Given the description of an element on the screen output the (x, y) to click on. 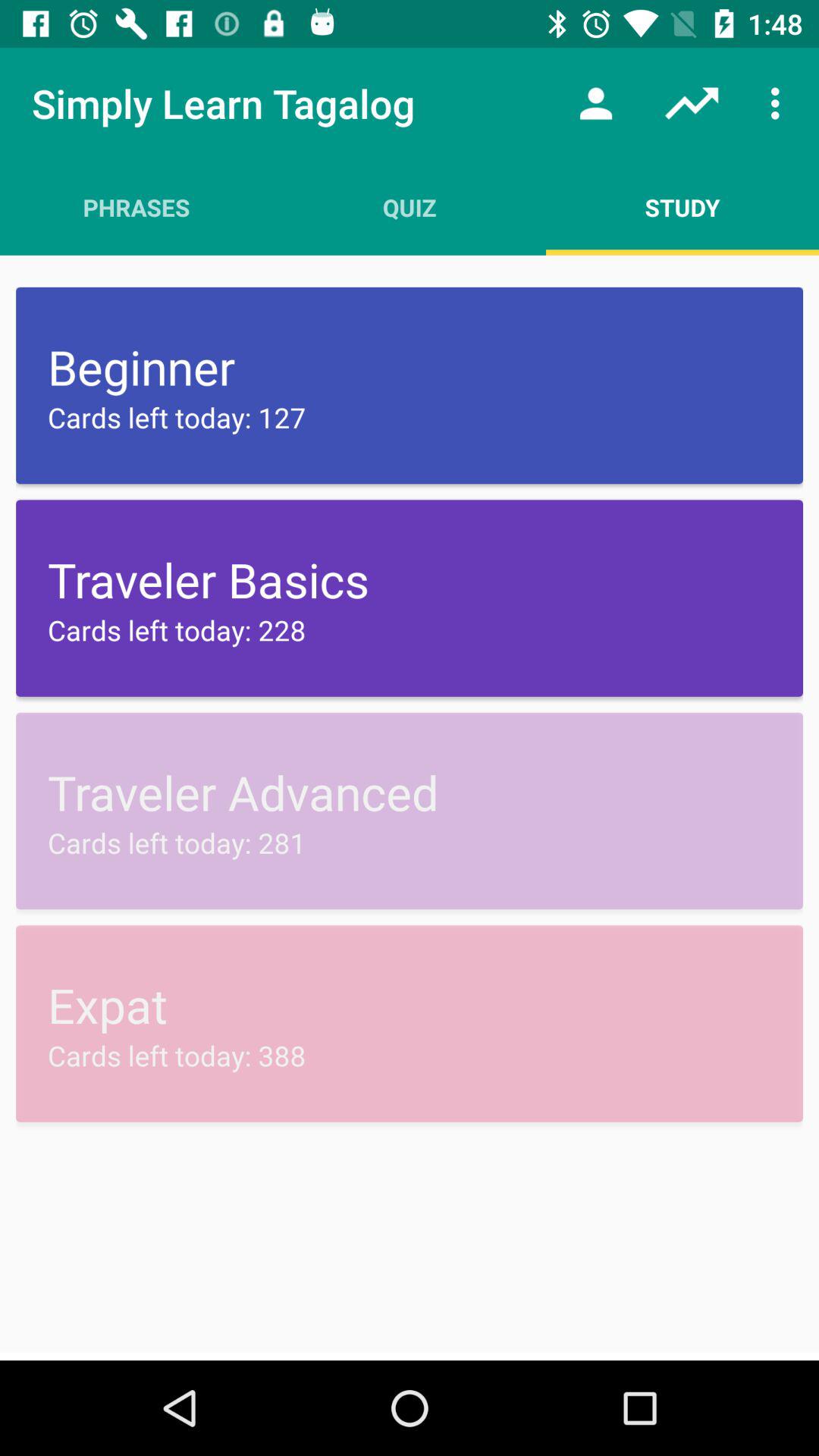
turn off item next to the quiz app (136, 207)
